Given the description of an element on the screen output the (x, y) to click on. 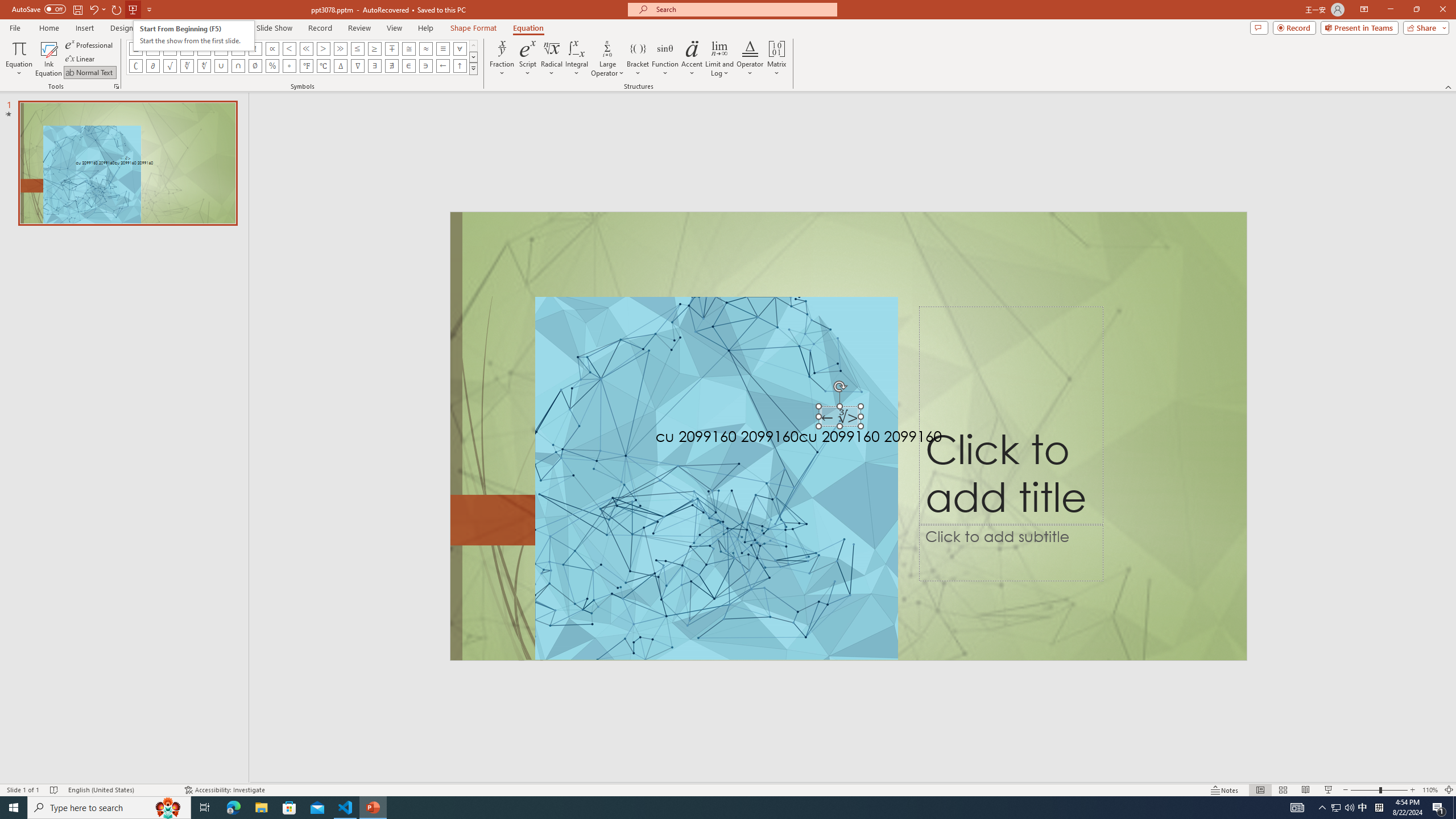
Equation Symbol Partial Differential (152, 65)
Equation Symbol Increment (340, 65)
Equation Symbol Up Arrow (459, 65)
Function (664, 58)
Equation Symbol Less Than (289, 48)
Equation Symbol Cube Root (187, 65)
Fraction (502, 58)
